Given the description of an element on the screen output the (x, y) to click on. 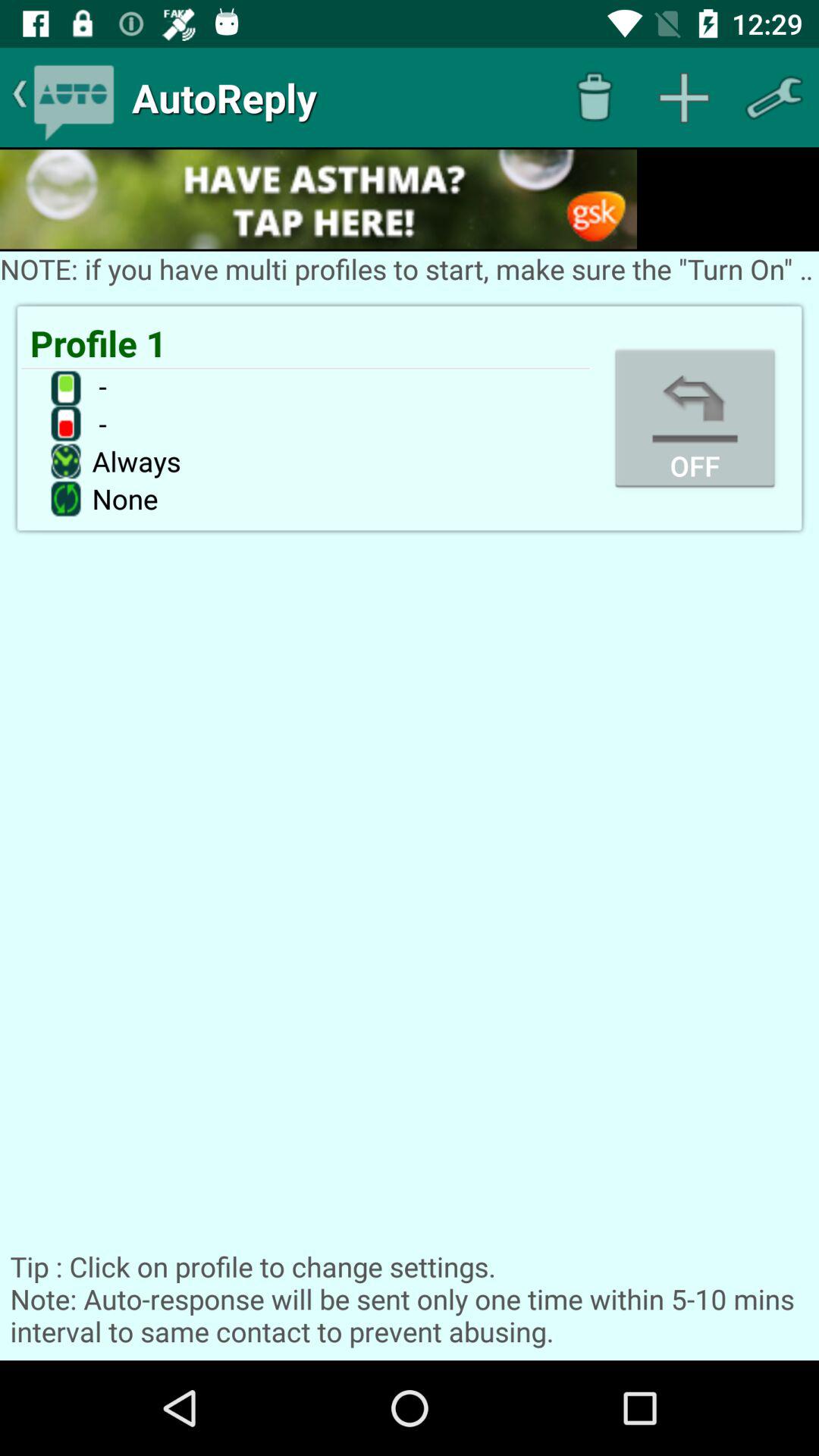
its an advertisement (318, 199)
